Given the description of an element on the screen output the (x, y) to click on. 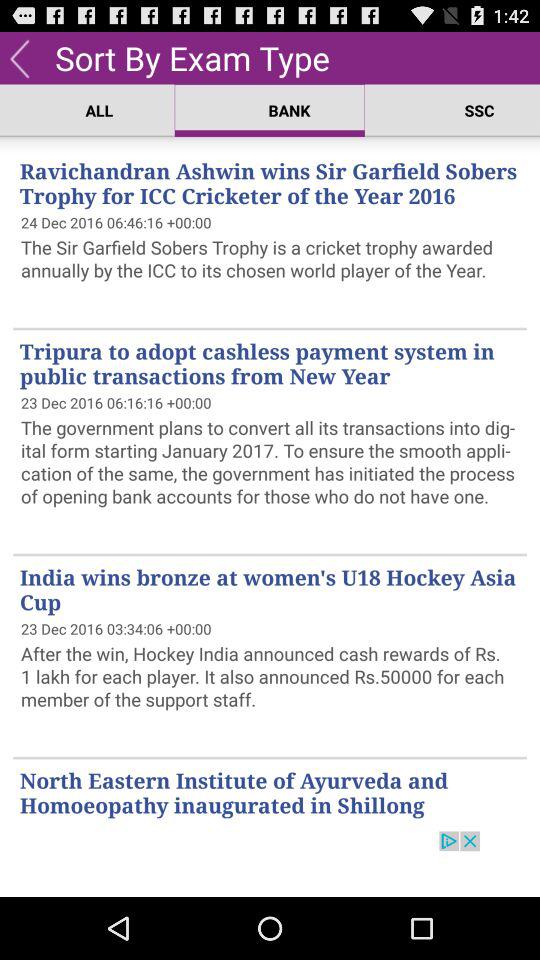
go to previous page (19, 57)
